Given the description of an element on the screen output the (x, y) to click on. 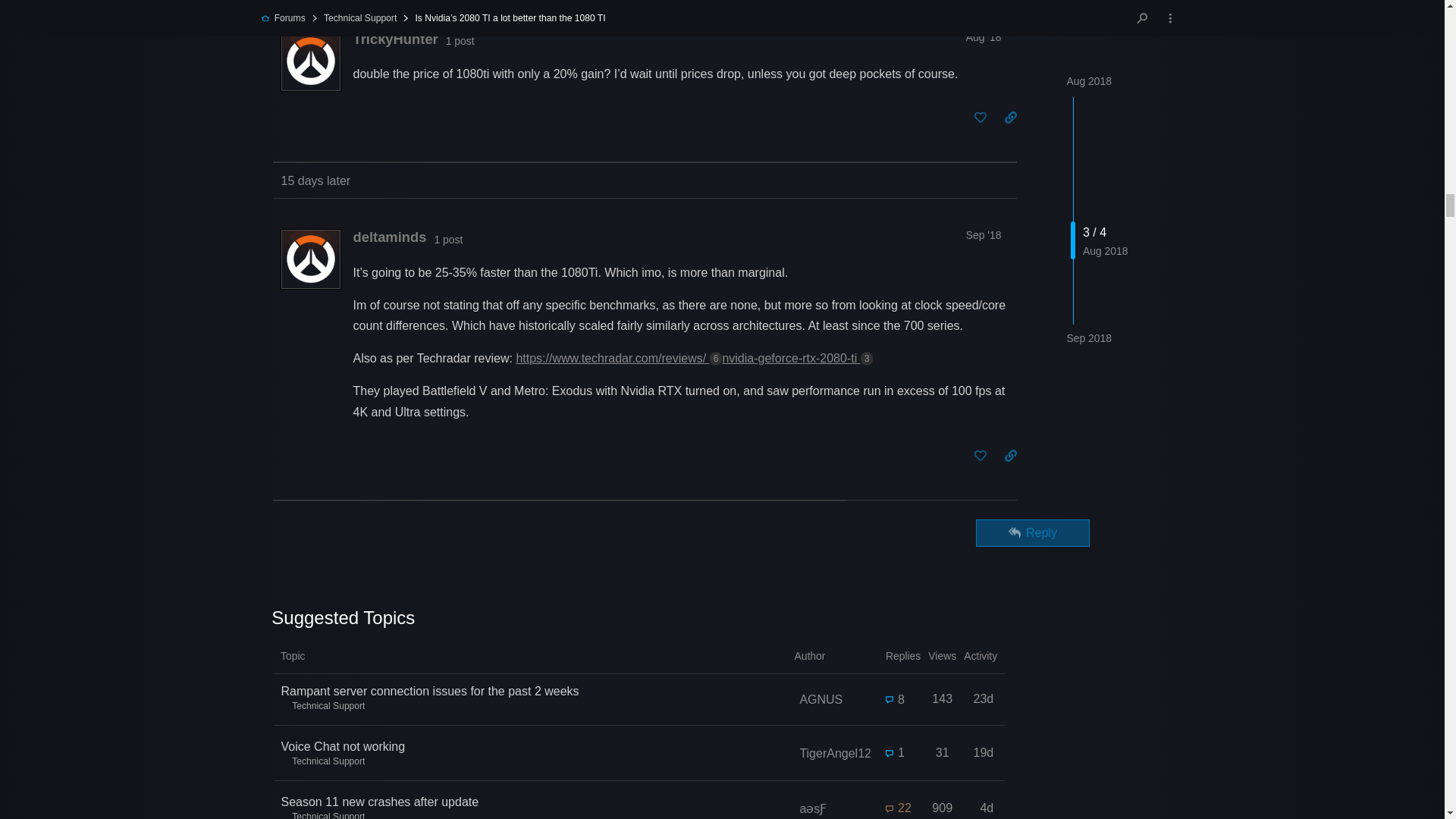
deltaminds (389, 236)
TrickyHunter (395, 38)
Aug '18 (983, 37)
Sep '18 (983, 234)
